Given the description of an element on the screen output the (x, y) to click on. 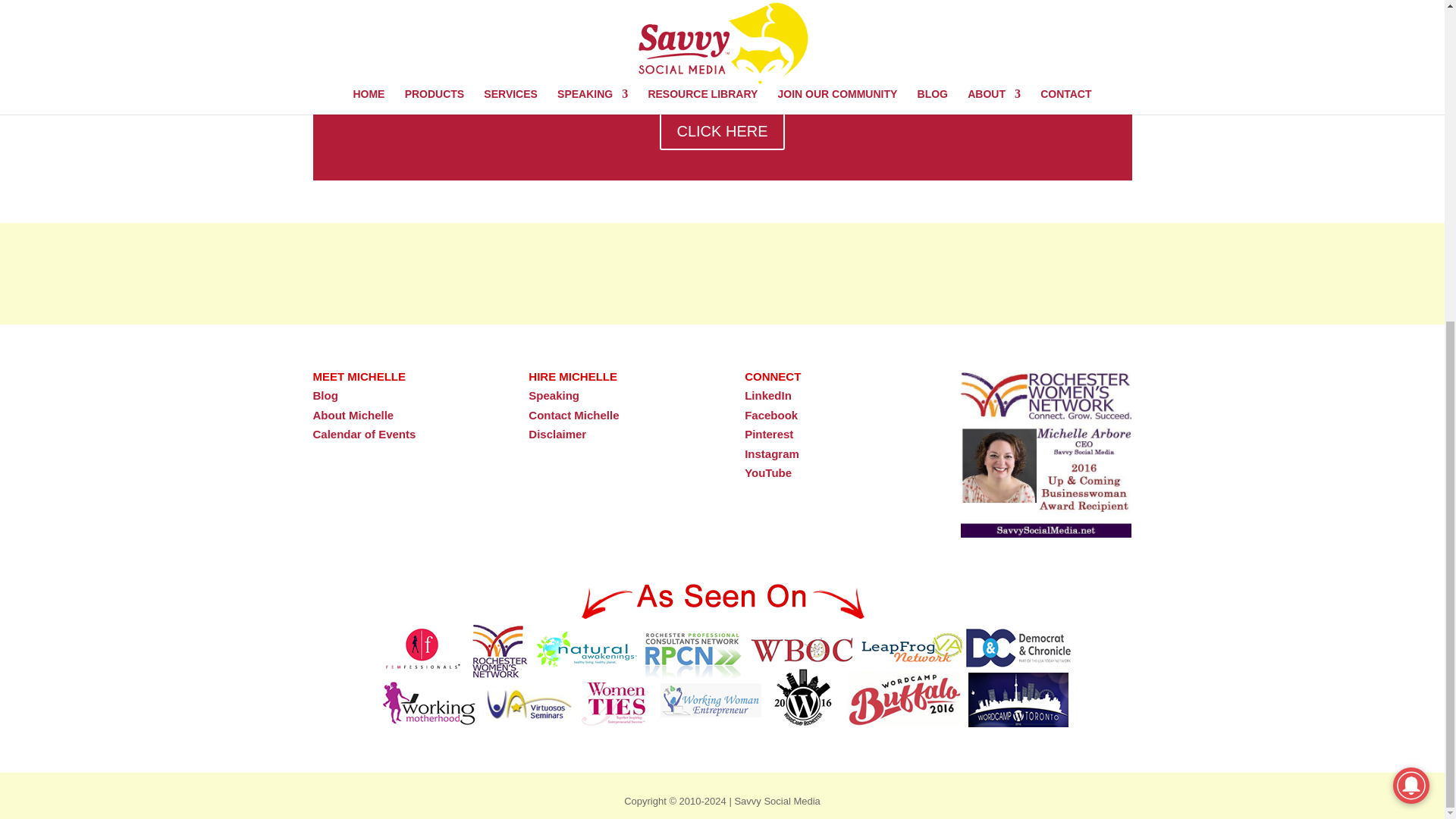
Blog (325, 395)
Calendar of Events (363, 433)
CLICK HERE (721, 130)
About Michelle (353, 414)
